Given the description of an element on the screen output the (x, y) to click on. 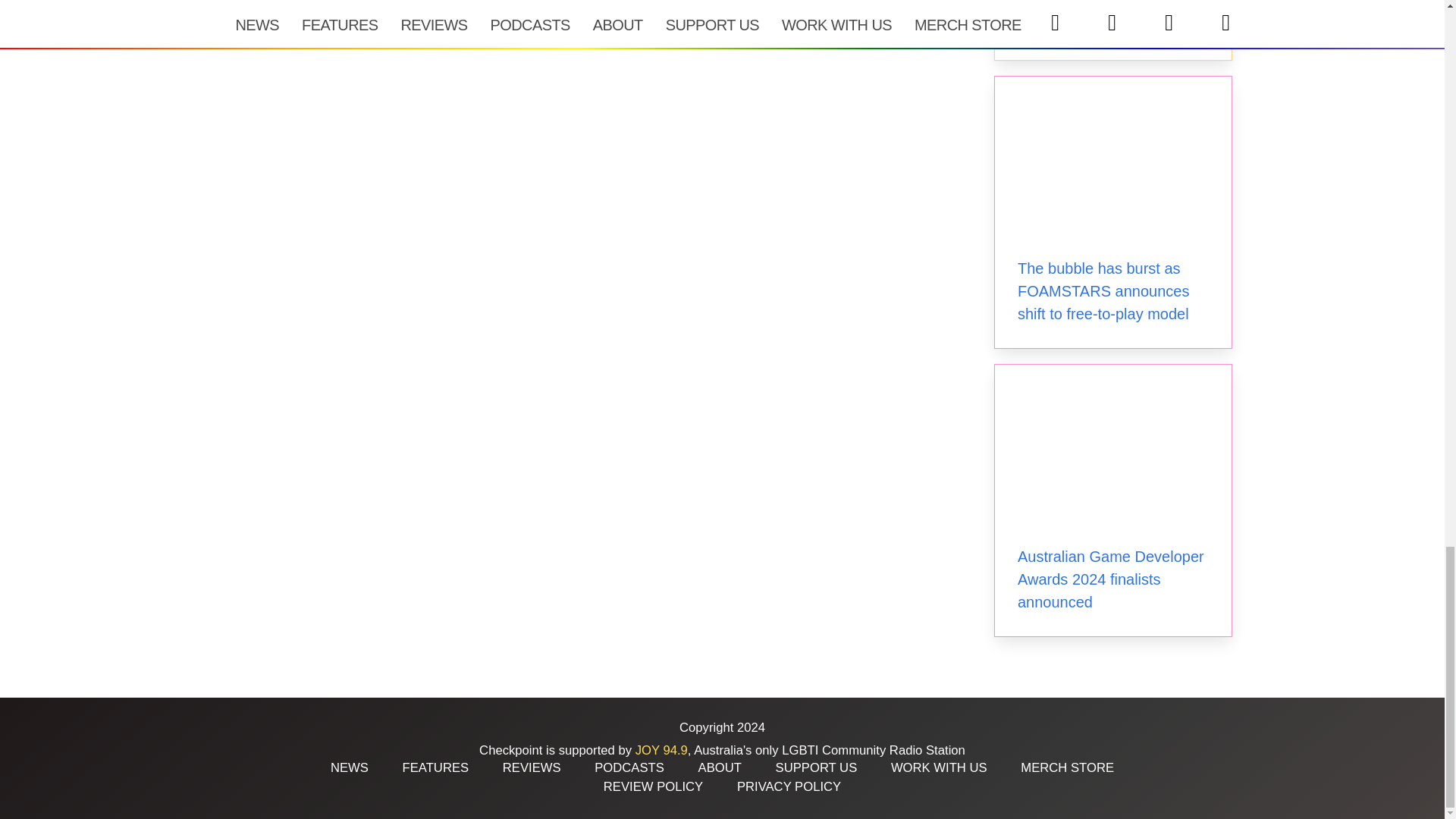
Australian Game Developer Awards 2024 finalists announced (1110, 578)
JOY 94.9 (660, 749)
